Given the description of an element on the screen output the (x, y) to click on. 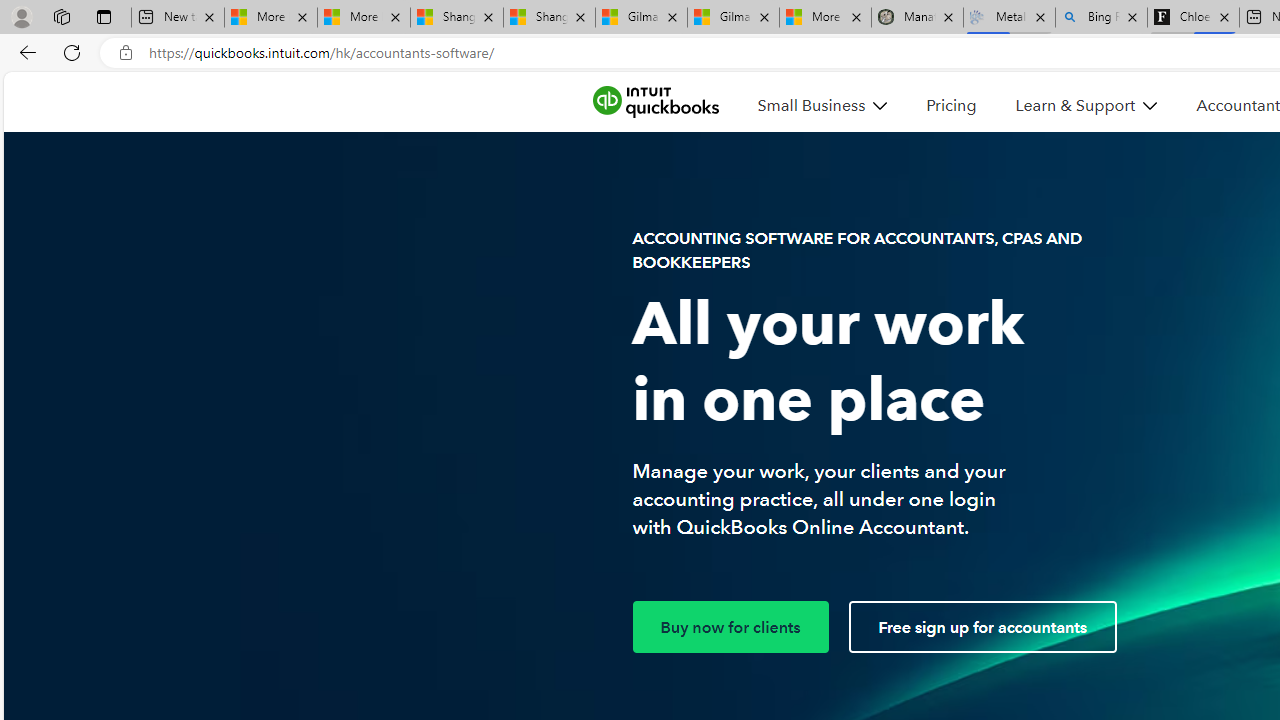
Buy now for clients (730, 627)
Chloe Sorvino (1193, 17)
quickbooks (655, 101)
